Given the description of an element on the screen output the (x, y) to click on. 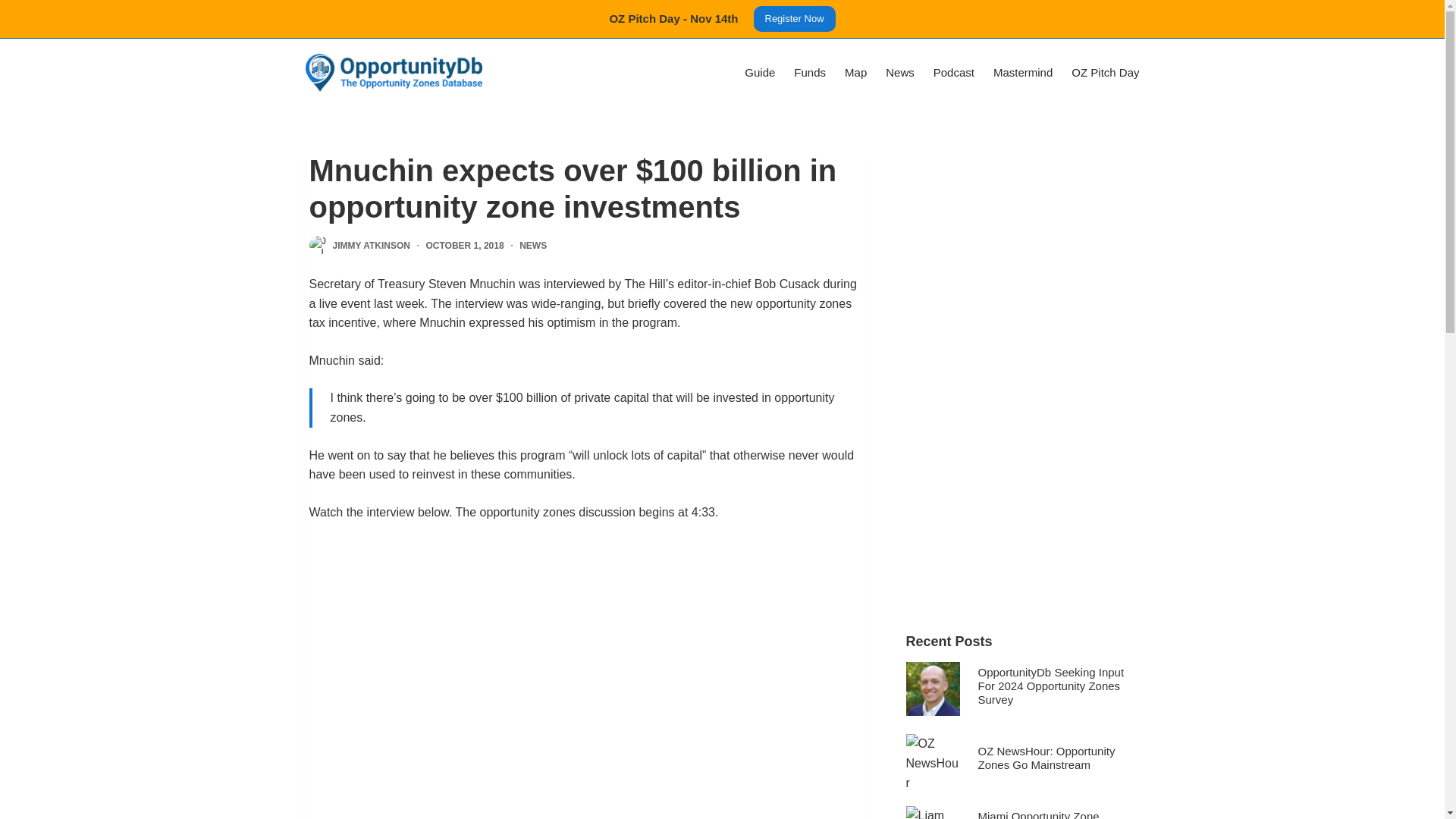
NEWS (533, 245)
Register Now (794, 18)
JIMMY ATKINSON (370, 245)
OZ Pitch Day (1101, 72)
Mastermind (1022, 72)
OZ NewsHour: Opportunity Zones Go Mainstream (1046, 757)
Posts by Jimmy Atkinson (370, 245)
Skip to content (15, 7)
